Given the description of an element on the screen output the (x, y) to click on. 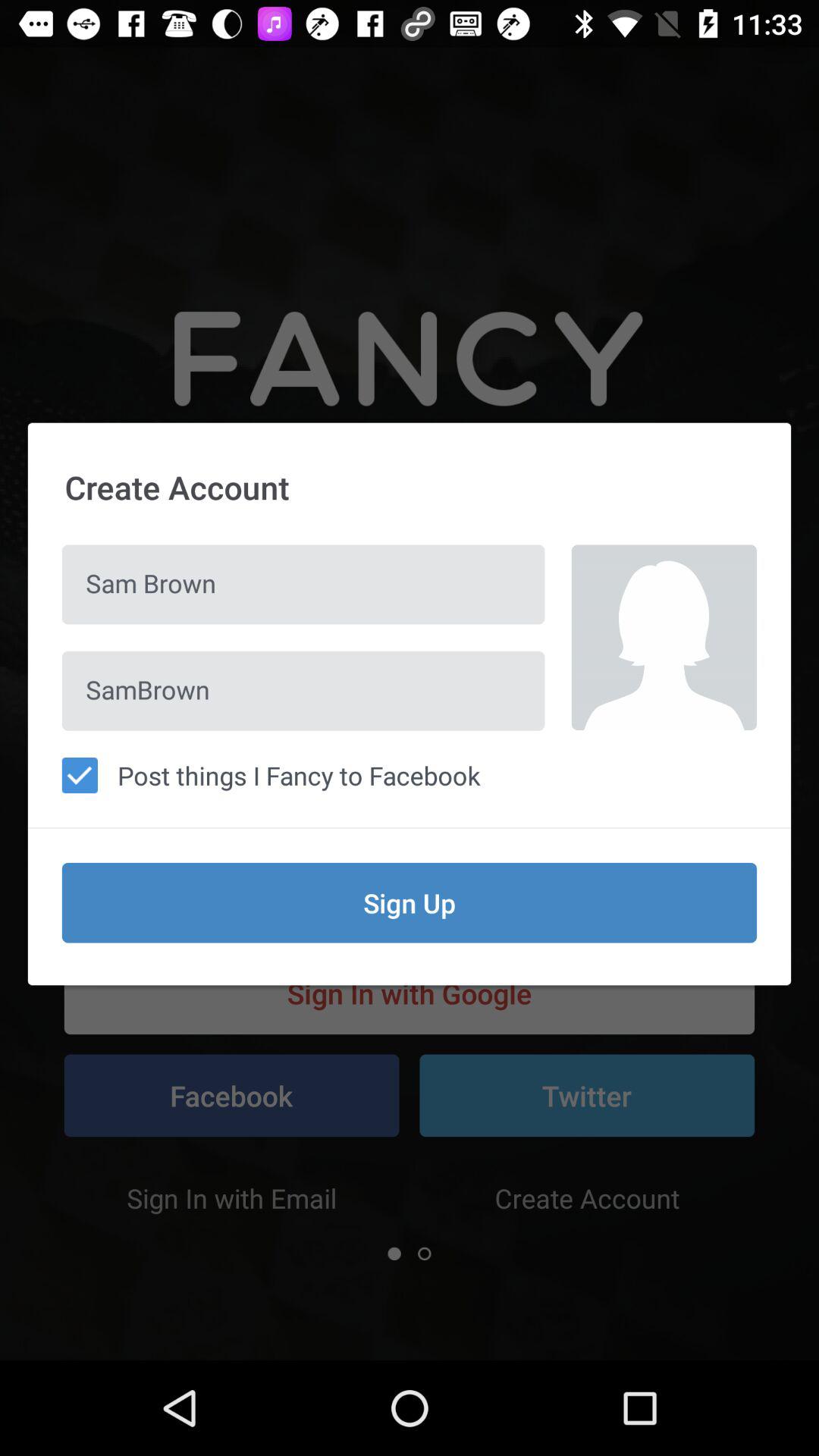
turn on the item above the sambrown (302, 584)
